Given the description of an element on the screen output the (x, y) to click on. 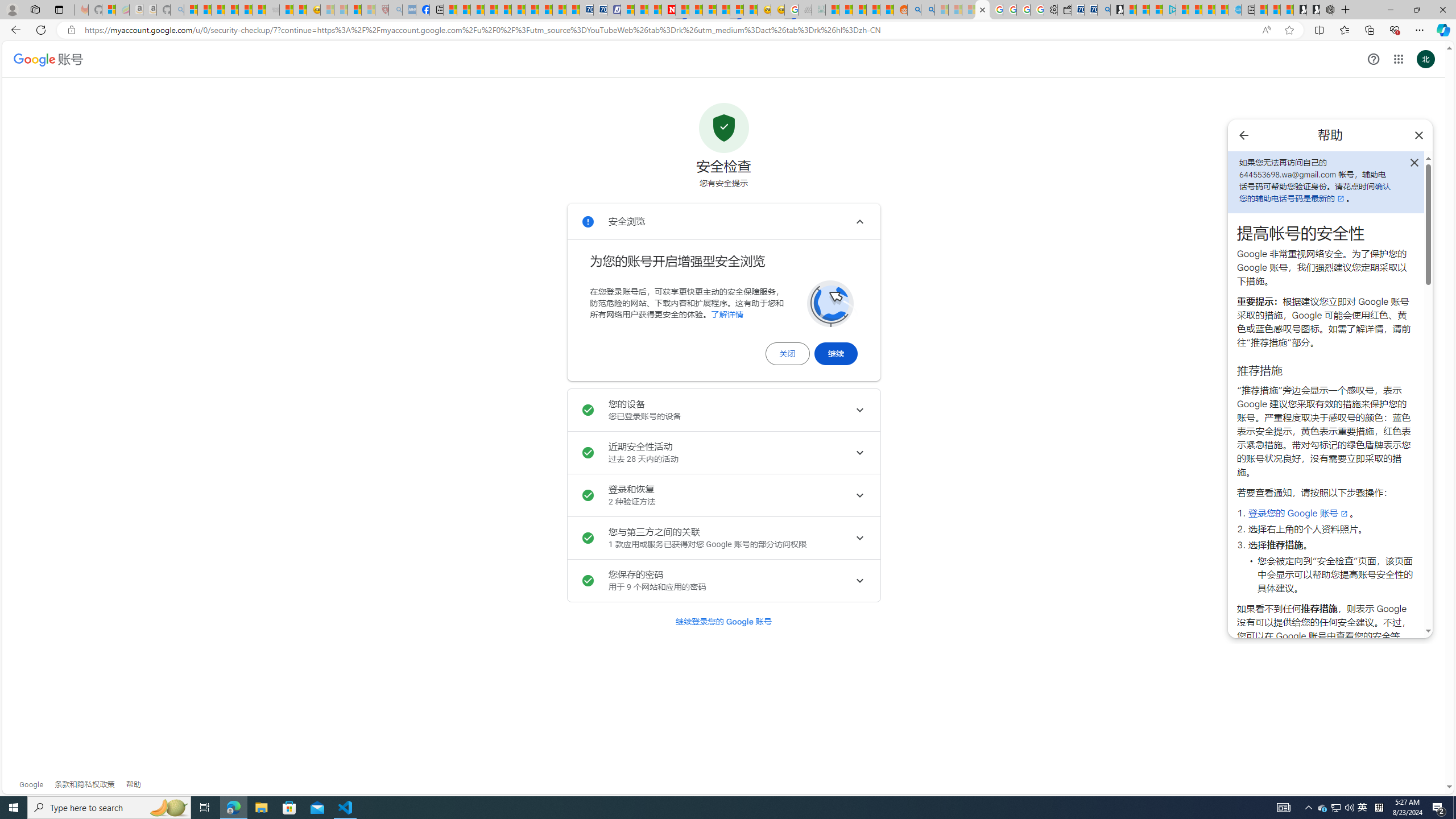
Class: gb_E (1398, 59)
